Given the description of an element on the screen output the (x, y) to click on. 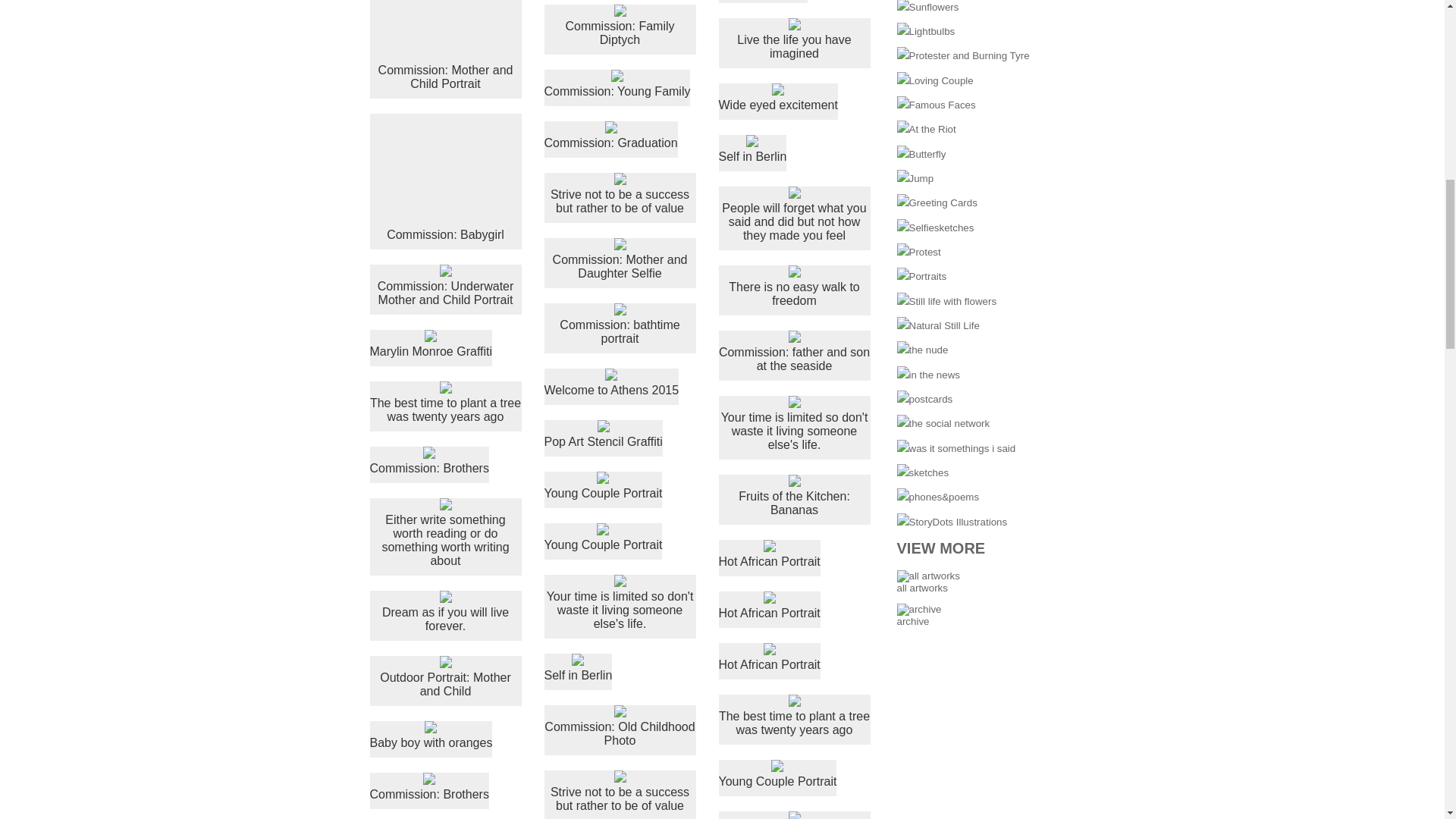
Commission: Underwater Mother and Child Portrait (445, 285)
The best time to plant a tree was twenty years ago (445, 402)
archive (918, 609)
Marylin Monroe Graffiti (431, 344)
Commission: Brothers (429, 460)
Baby boy with oranges (431, 735)
Commission: Brothers (429, 787)
Dream as if you will live forever. (445, 611)
Commission: Mother and Child Portrait (445, 45)
Commission: Babygirl (445, 176)
all artworks (927, 576)
Outdoor Portrait: Mother and Child (445, 677)
